Given the description of an element on the screen output the (x, y) to click on. 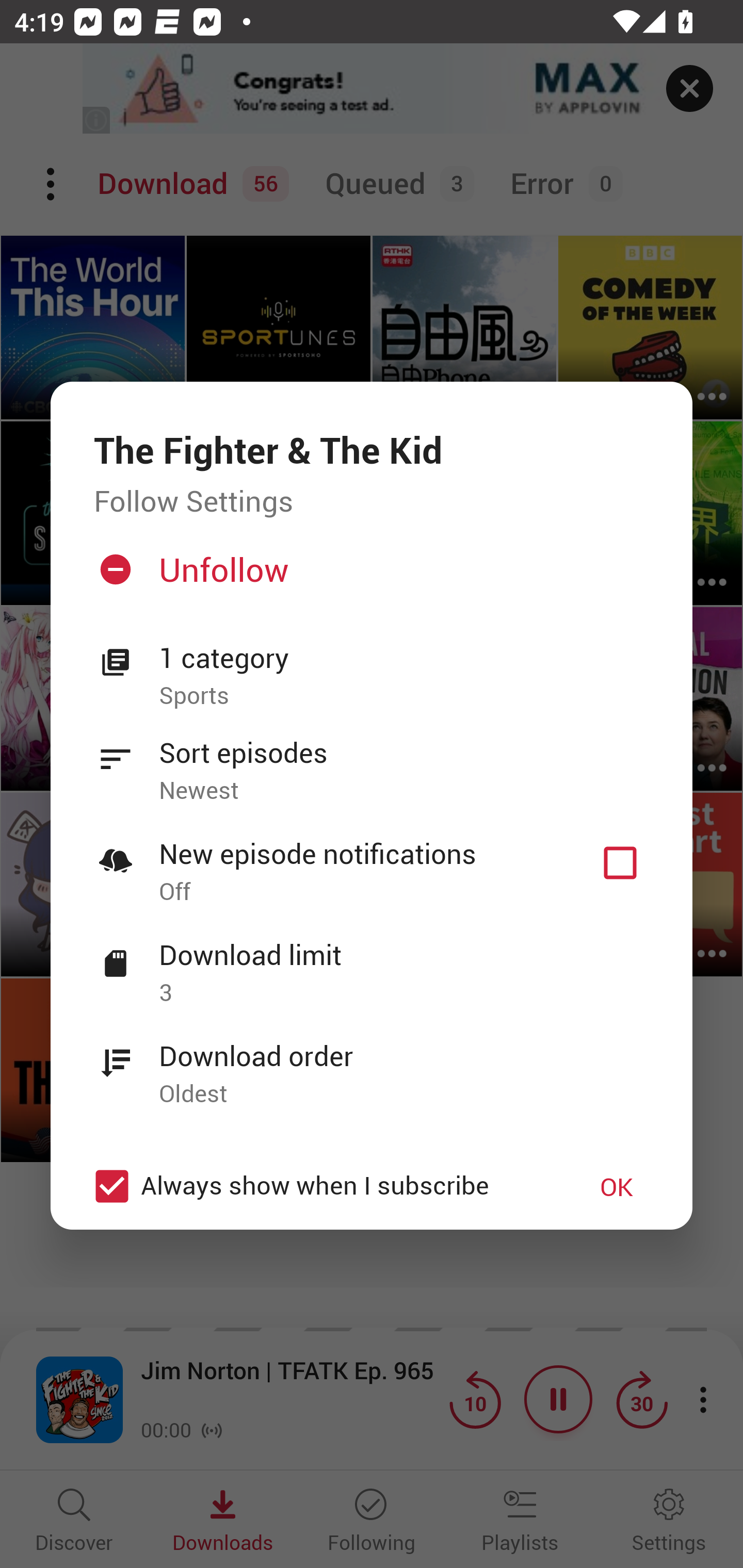
Unfollow (369, 576)
1 category (404, 658)
Sports (404, 696)
Sort episodes Newest (371, 760)
New episode notifications (620, 863)
Download limit 3 (371, 962)
Download order Oldest (371, 1063)
OK (616, 1186)
Always show when I subscribe (320, 1186)
